Given the description of an element on the screen output the (x, y) to click on. 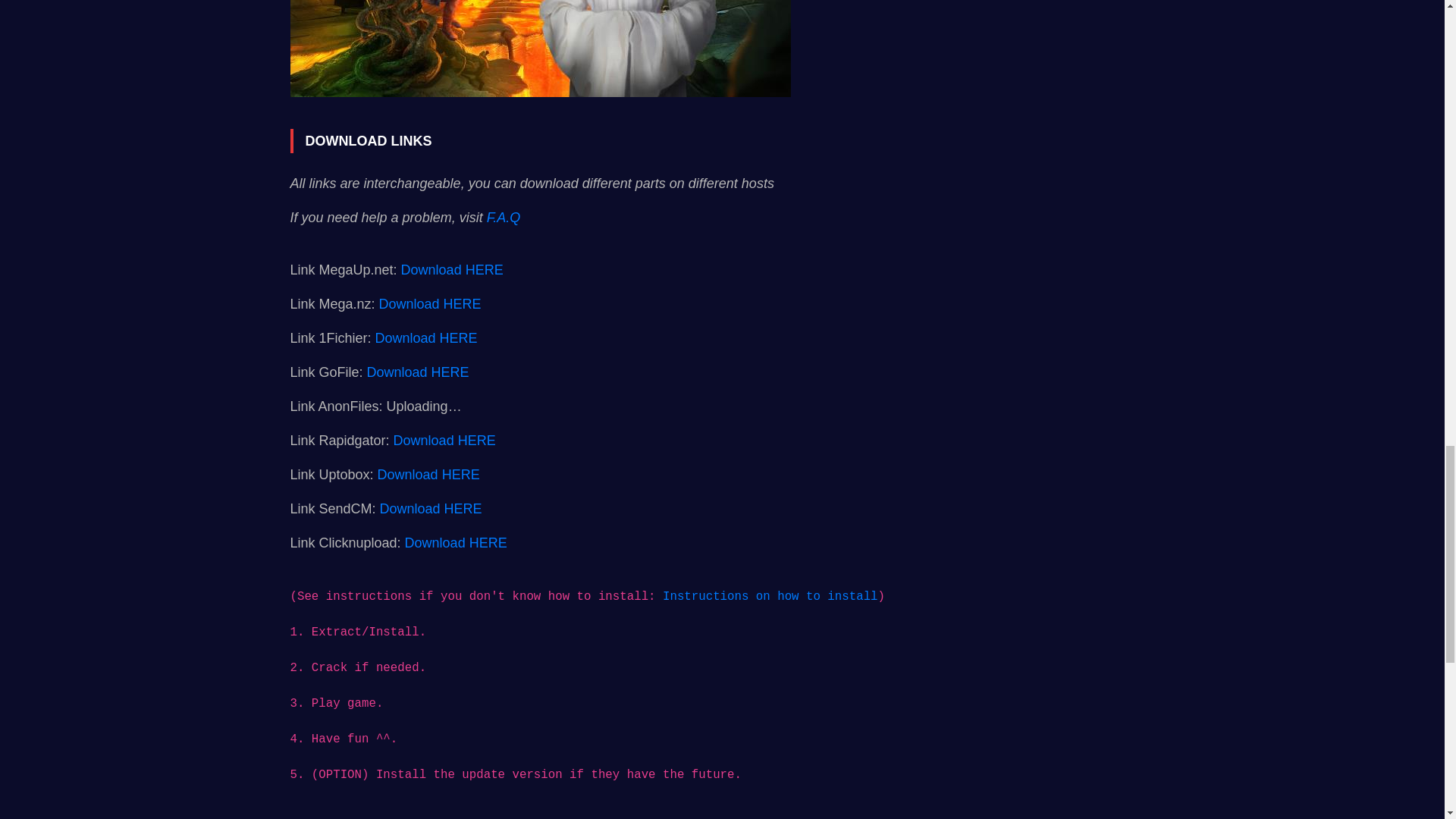
Seven Chambers PC Crack (539, 48)
